Given the description of an element on the screen output the (x, y) to click on. 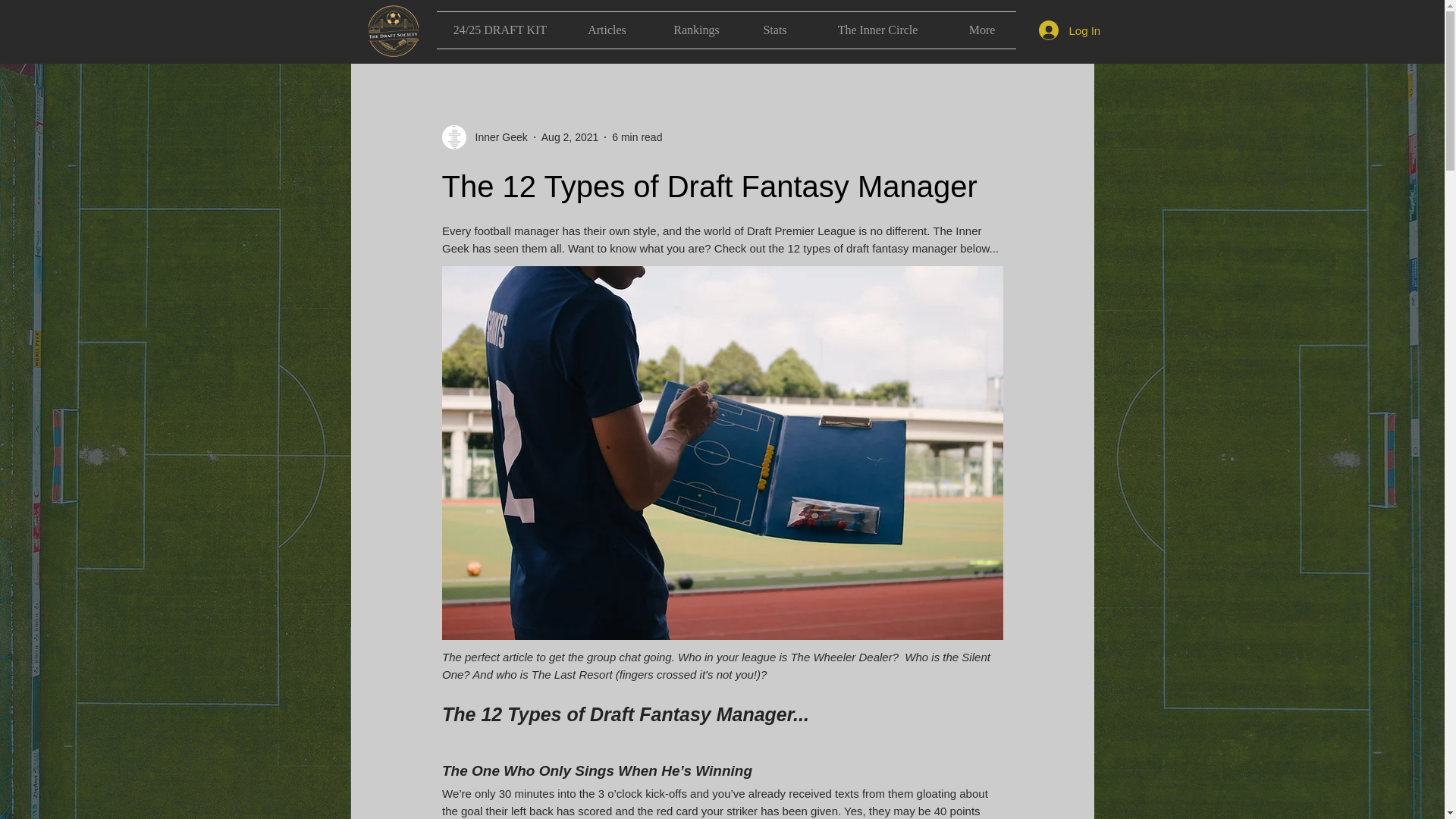
Articles (607, 30)
Stats (775, 30)
Inner Geek (484, 137)
Log In (1058, 30)
The Inner Circle (876, 30)
6 min read (636, 136)
Inner Geek (496, 136)
Aug 2, 2021 (569, 136)
Rankings (696, 30)
